Given the description of an element on the screen output the (x, y) to click on. 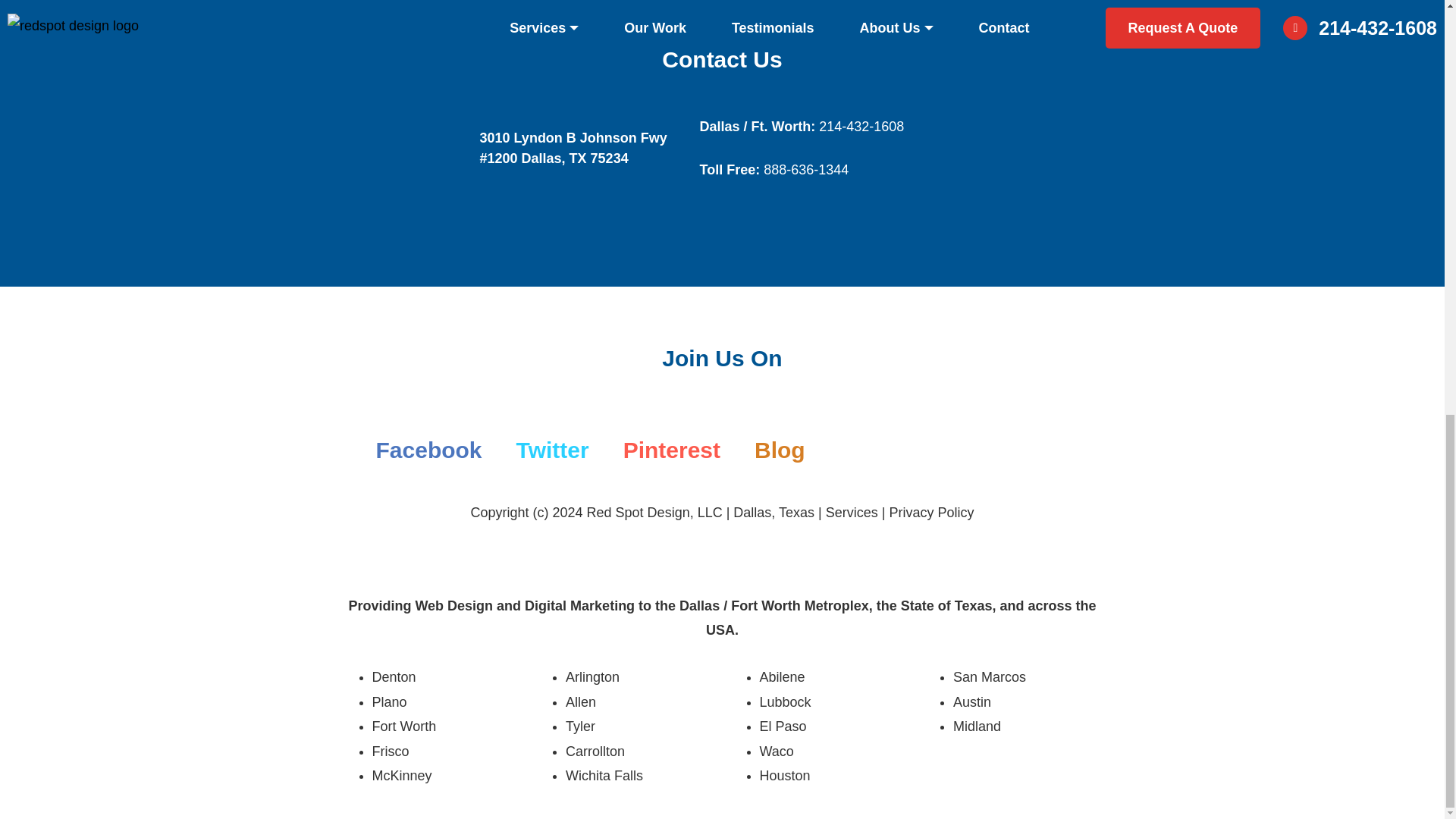
Affordable Web Design Company Tulsa OK (785, 702)
Affordable Web Design Company Tulsa OK (785, 775)
Web Design Firm Plano Texas (388, 702)
Affordable Carrollton TX Web Design Firm (595, 751)
Web Design Firm Fort Worth Texas (403, 726)
Affordable Frisco Web Design Company (390, 751)
Web Design Firm Denton Texas (392, 676)
Affordable Web Design Company Tulsa OK (782, 676)
Web Design Firm Tyler Texas (580, 726)
